Given the description of an element on the screen output the (x, y) to click on. 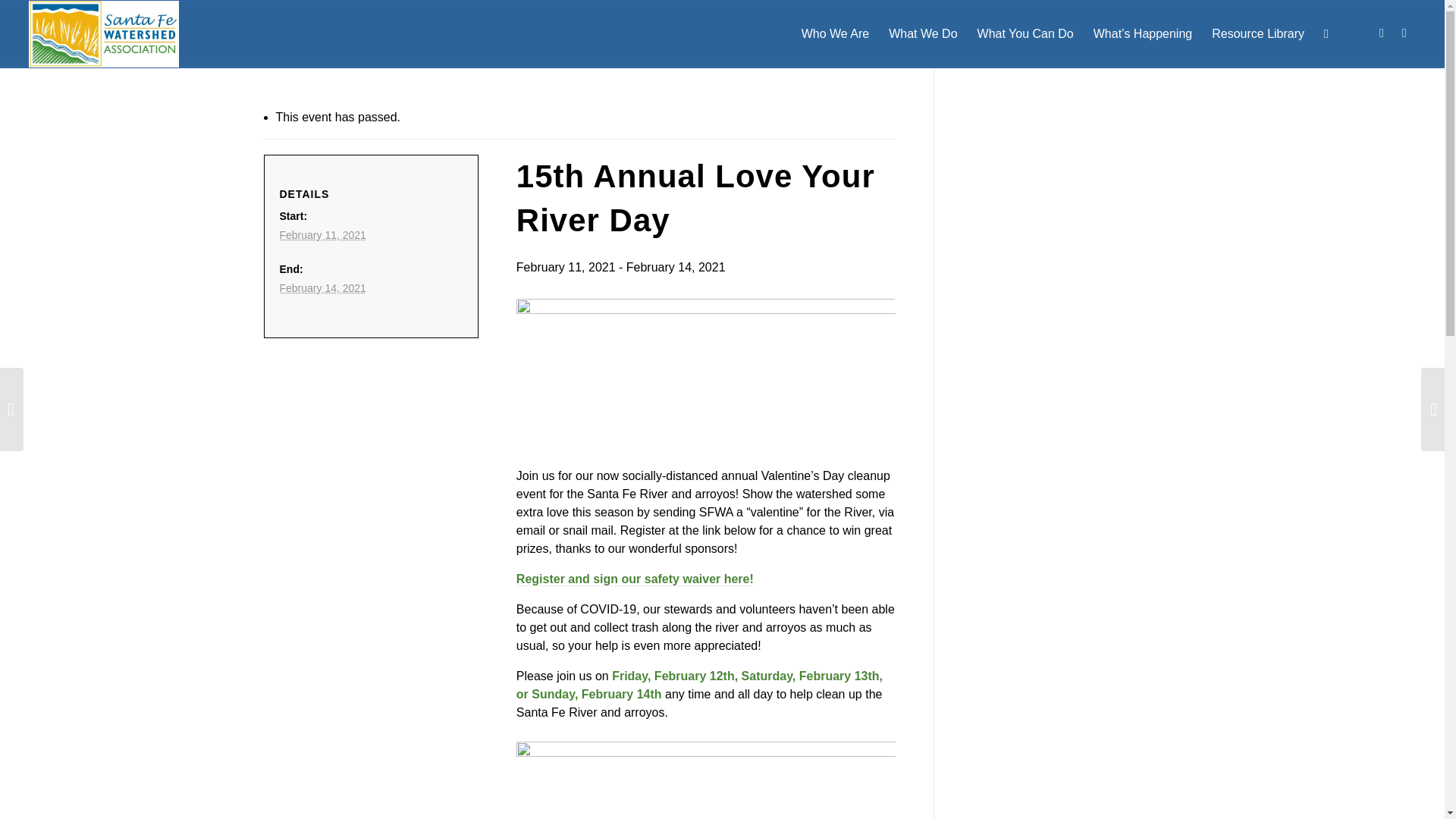
Who We Are (835, 33)
Facebook (1381, 33)
What We Do (922, 33)
Instagram (1404, 33)
2021-02-11 (322, 234)
What You Can Do (1025, 33)
2021-02-14 (322, 287)
